Given the description of an element on the screen output the (x, y) to click on. 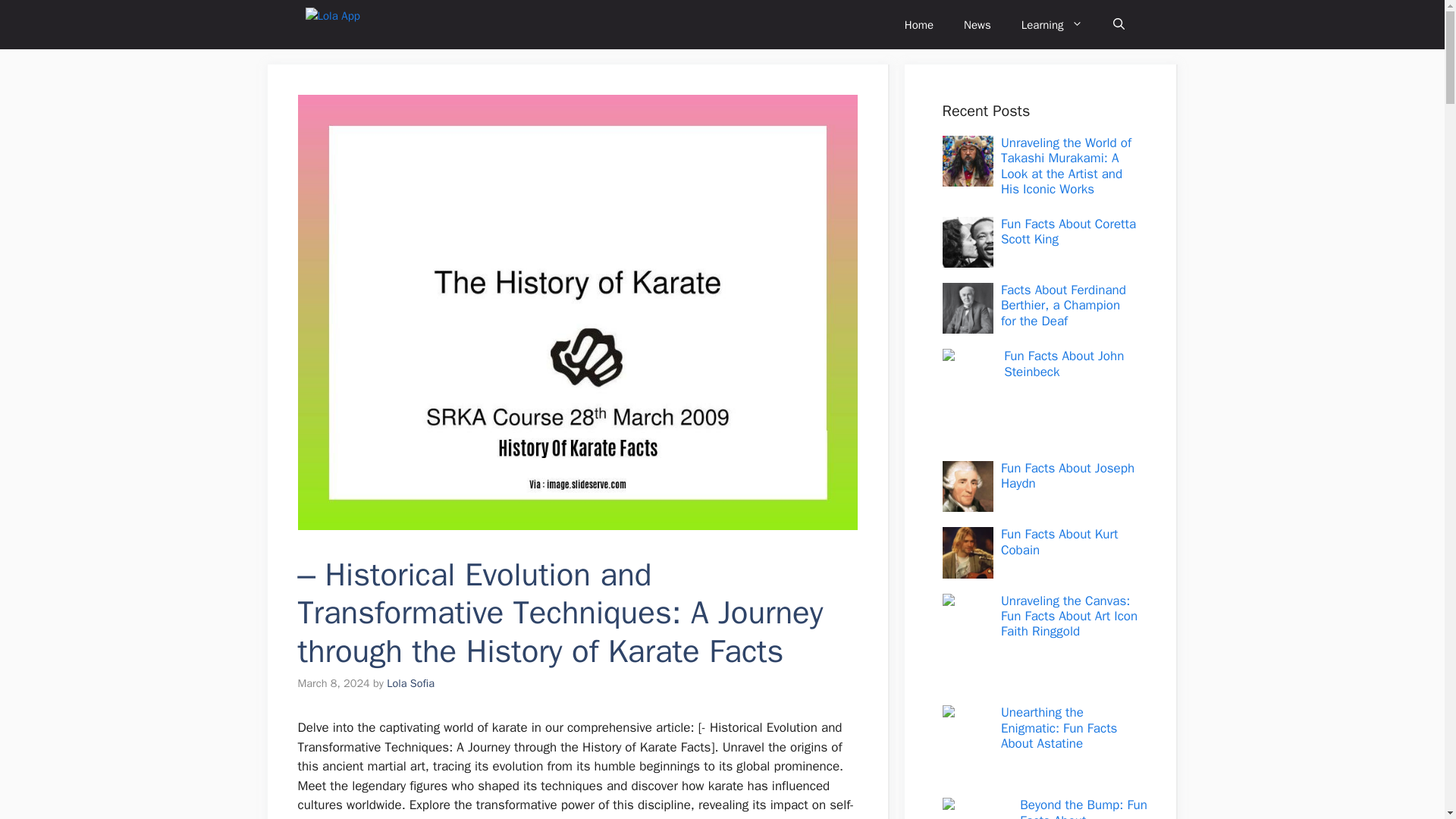
Lola App (390, 24)
News (977, 23)
Home (919, 23)
View all posts by Lola Sofia (410, 683)
Lola Sofia (410, 683)
Learning (1051, 23)
